Given the description of an element on the screen output the (x, y) to click on. 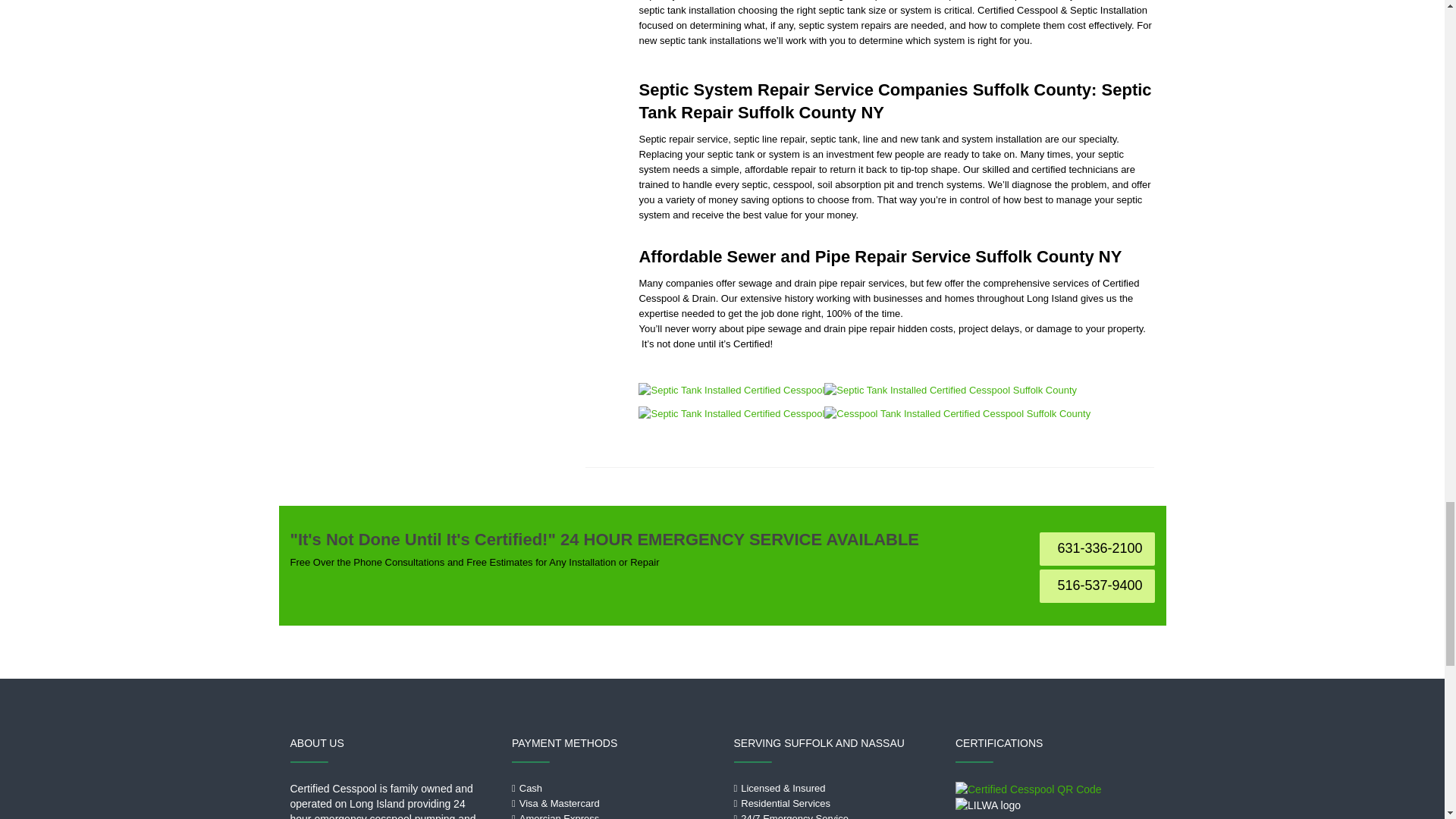
631-336-2100 (1096, 548)
516-537-9400 (1096, 585)
